Given the description of an element on the screen output the (x, y) to click on. 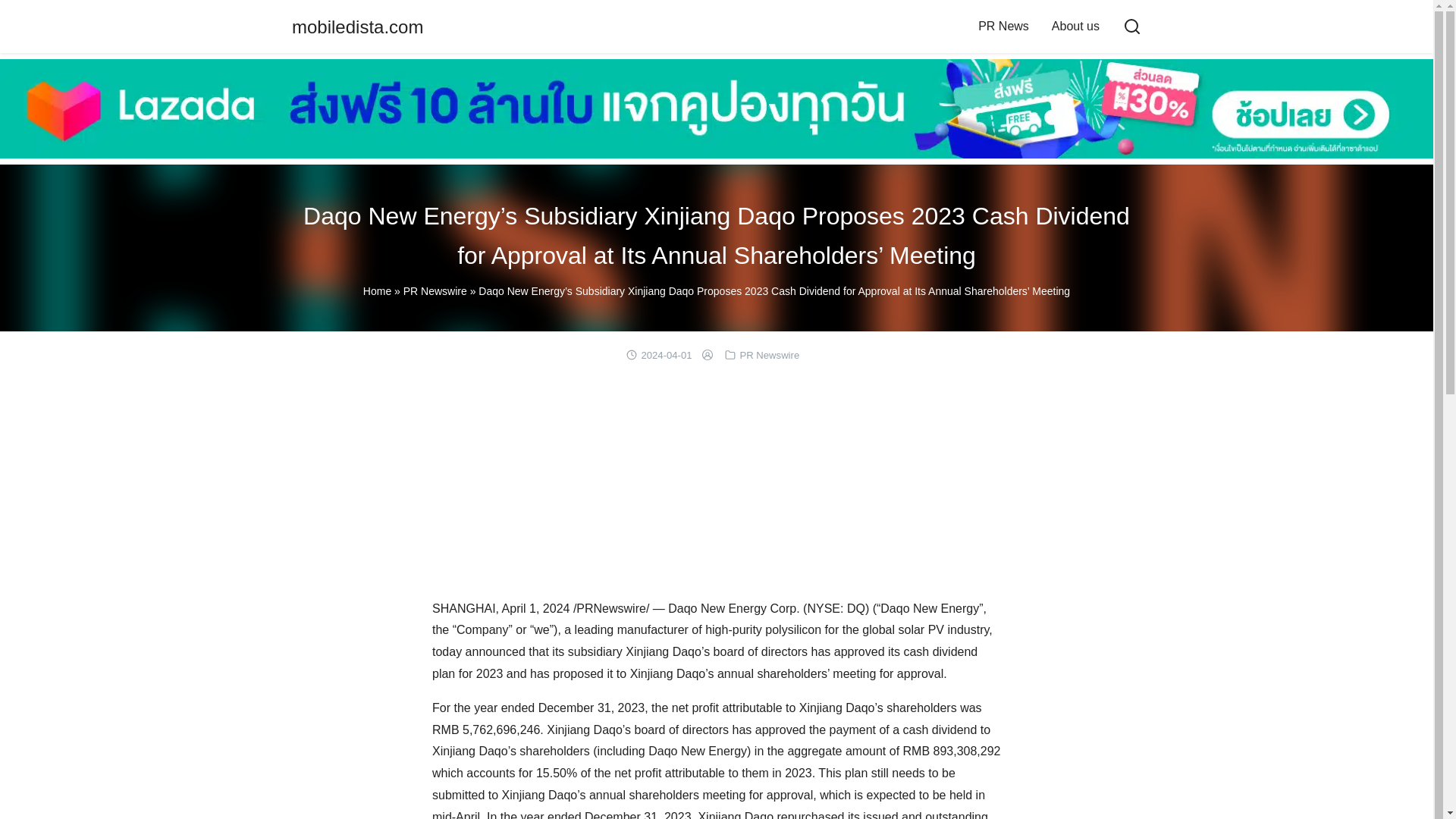
Home (376, 291)
PR Newswire (435, 291)
2024-04-01 (665, 355)
PR Newswire (769, 355)
PR News (1003, 26)
Advertisement (716, 486)
About us (1075, 26)
mobiledista.com (357, 26)
